Given the description of an element on the screen output the (x, y) to click on. 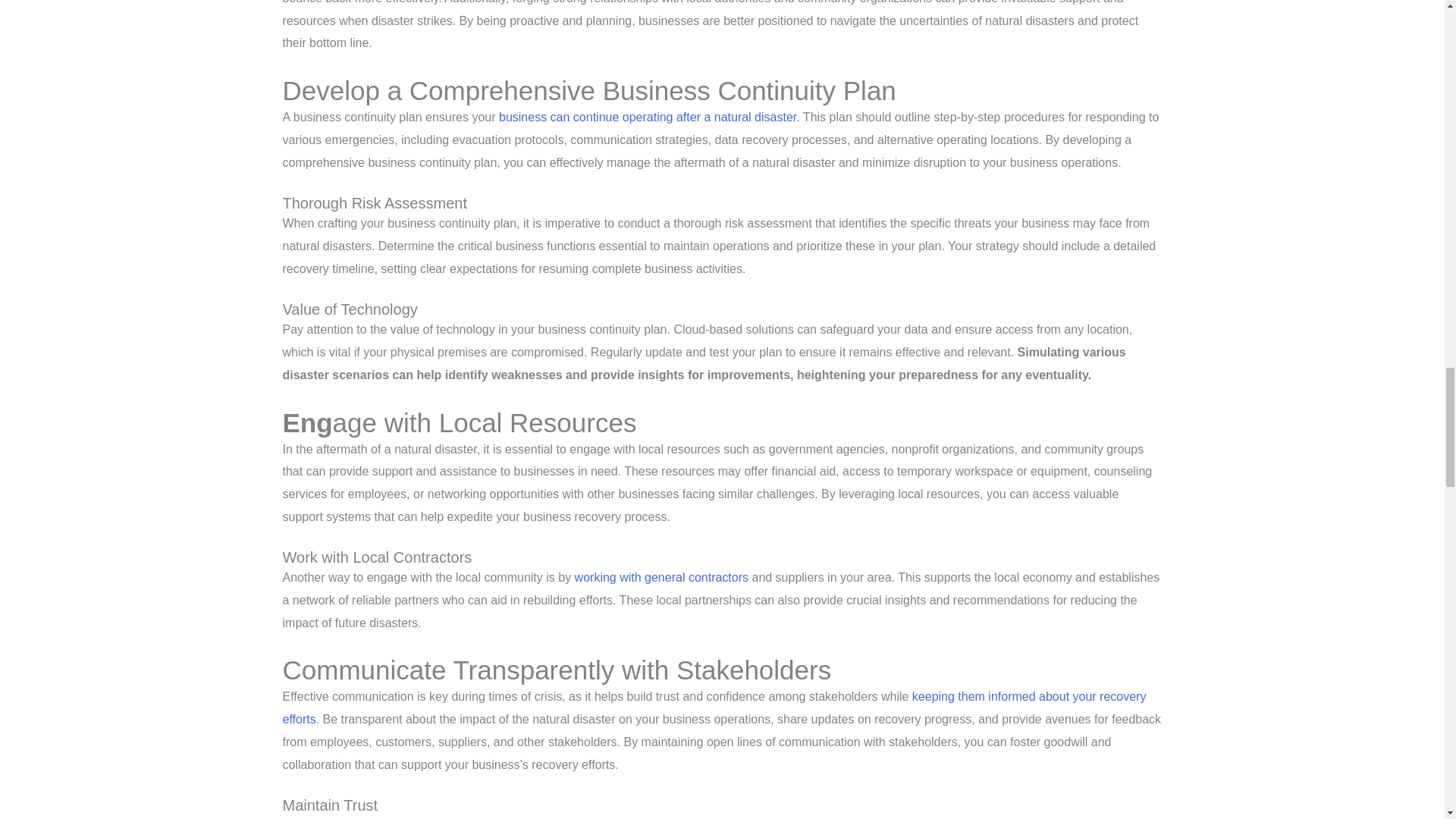
working with general contractors (661, 576)
keeping them informed about your recovery efforts (713, 707)
business can continue operating after a natural disaster (647, 116)
